Given the description of an element on the screen output the (x, y) to click on. 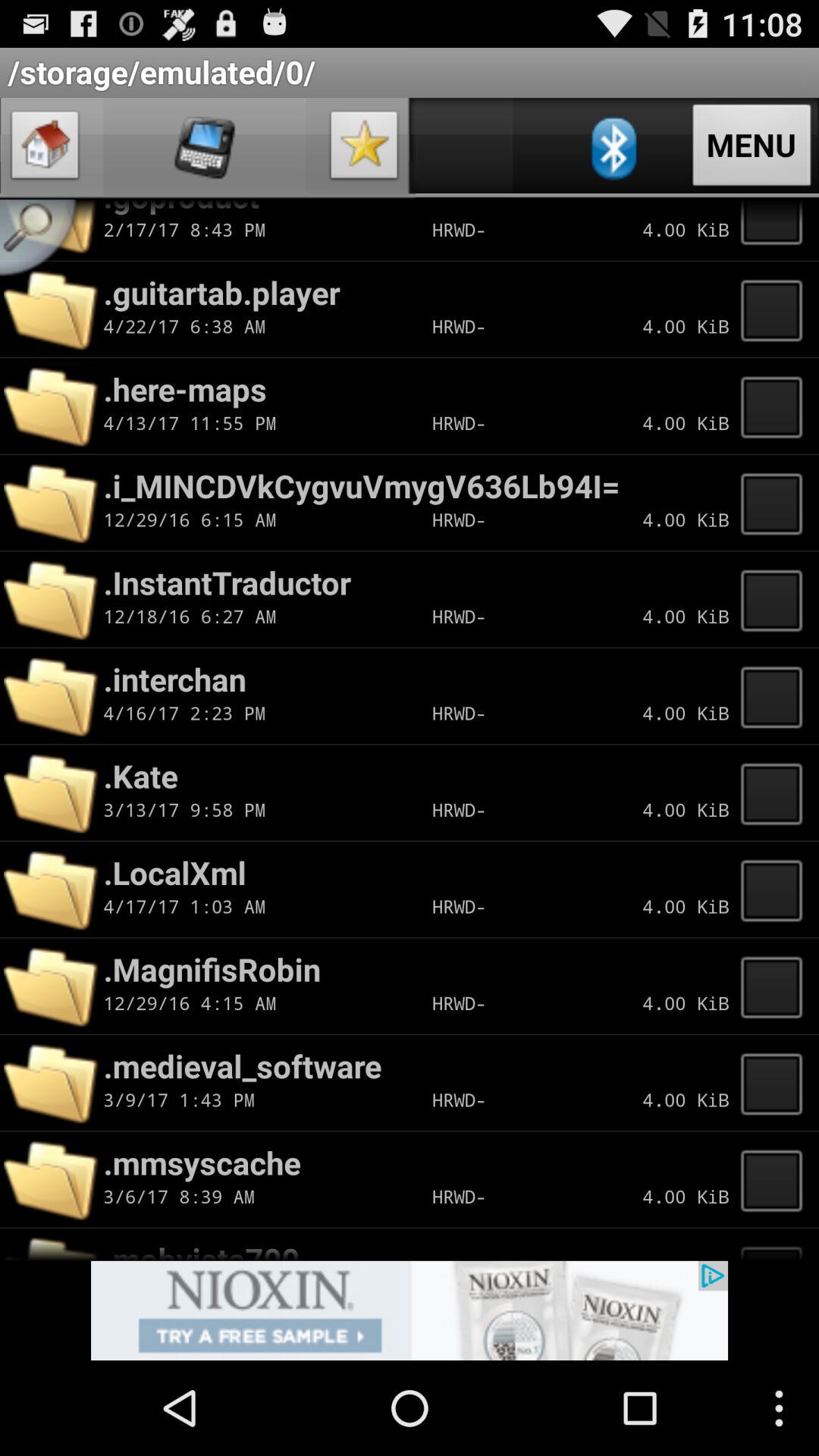
select file (776, 1082)
